Given the description of an element on the screen output the (x, y) to click on. 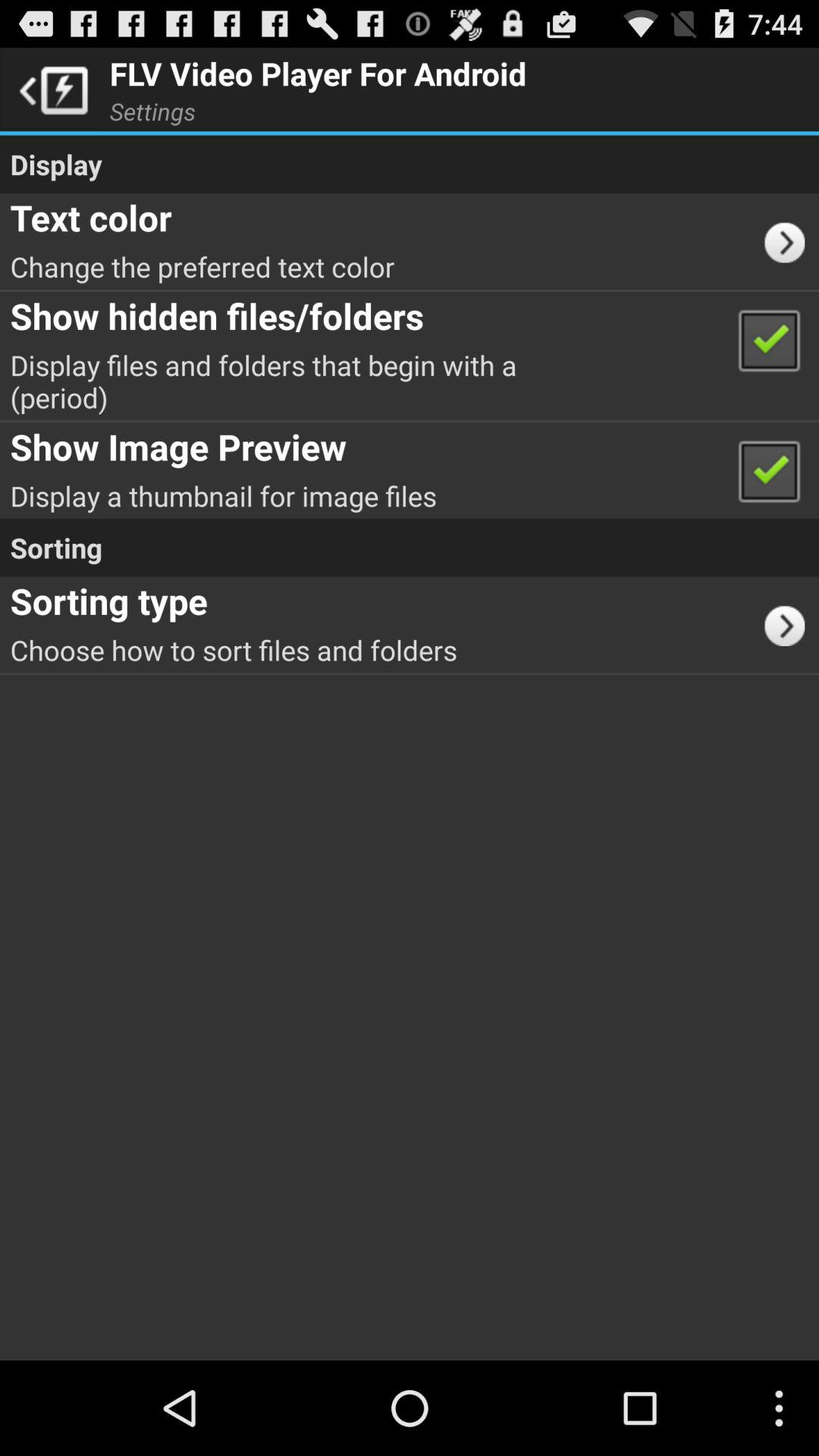
press the app to the right of the choose how to (790, 624)
